Given the description of an element on the screen output the (x, y) to click on. 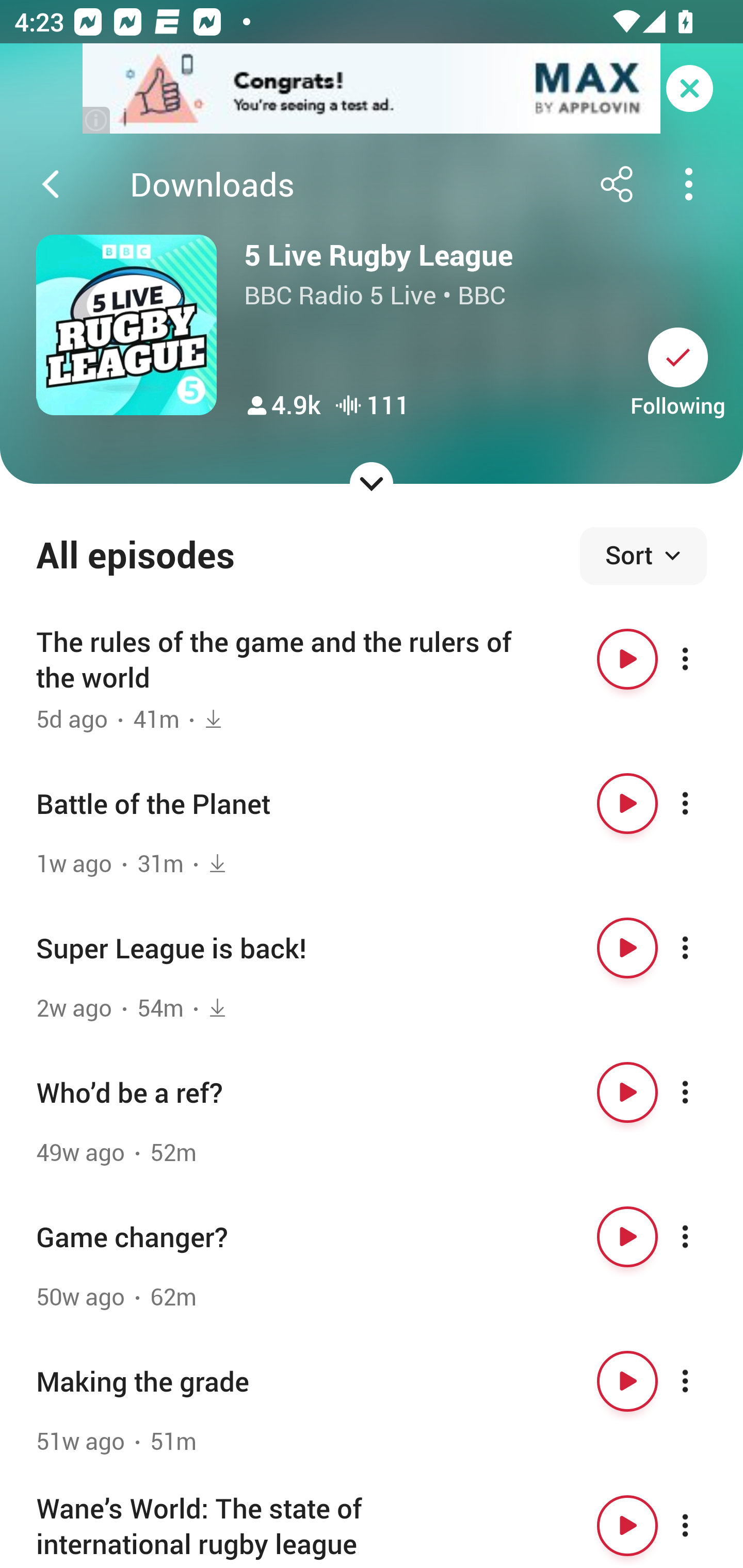
app-monetization (371, 88)
(i) (96, 119)
Back (50, 184)
Unsubscribe button (677, 357)
Sort episodes Sort (643, 555)
Play button (627, 659)
More options (703, 659)
Play button (627, 803)
More options (703, 803)
Play button (627, 947)
More options (703, 947)
Play button (627, 1092)
More options (703, 1092)
Play button (627, 1236)
More options (703, 1236)
Play button (627, 1381)
More options (703, 1381)
Play button (627, 1525)
More options (703, 1525)
